Given the description of an element on the screen output the (x, y) to click on. 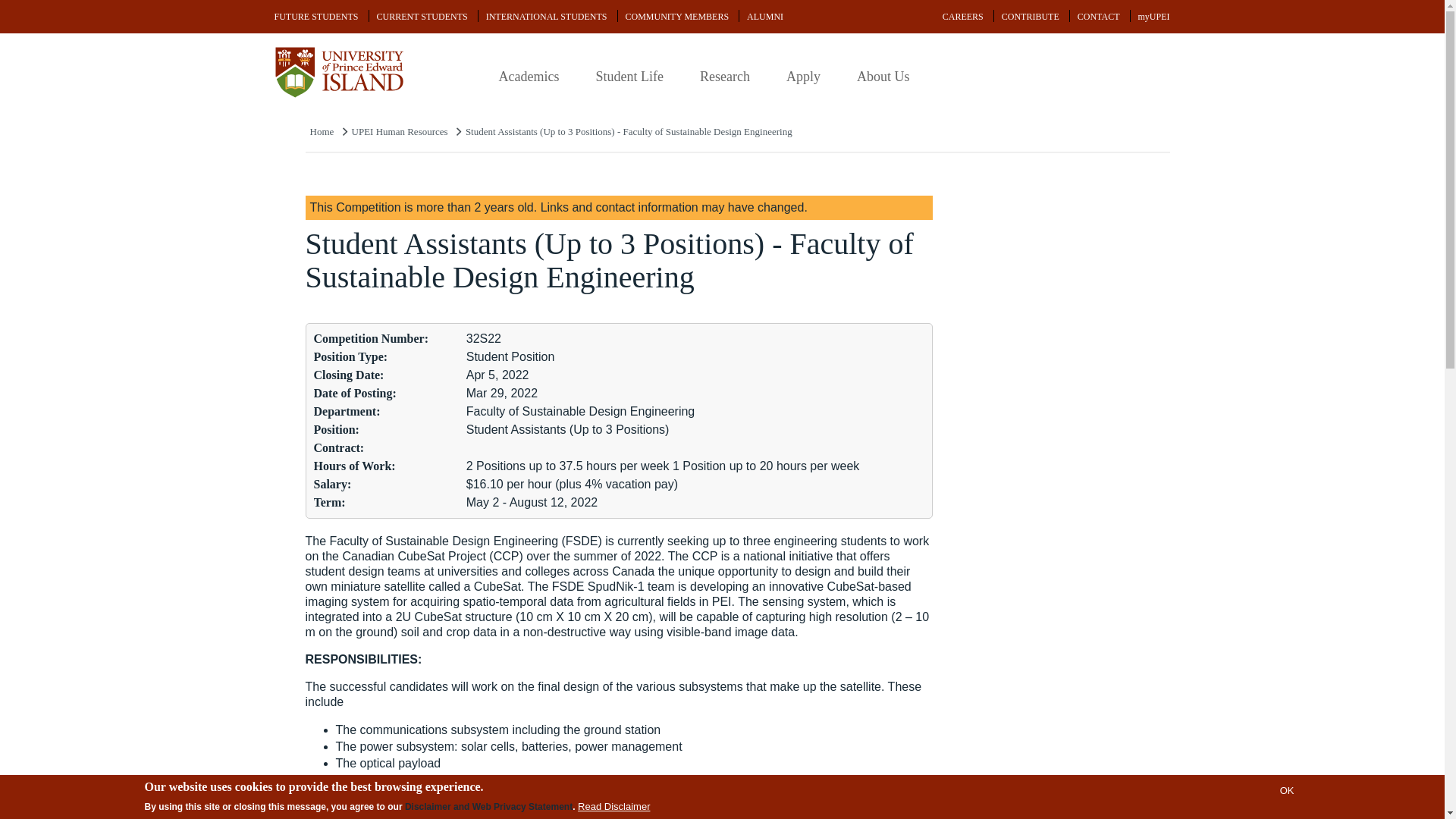
CONTACT (1098, 16)
ALUMNI (764, 16)
myUPEI (1152, 16)
INTERNATIONAL STUDENTS (546, 16)
COMMUNITY MEMBERS (676, 16)
CURRENT STUDENTS (422, 16)
CAREERS (962, 16)
FUTURE STUDENTS (316, 16)
CONTRIBUTE (1030, 16)
